Given the description of an element on the screen output the (x, y) to click on. 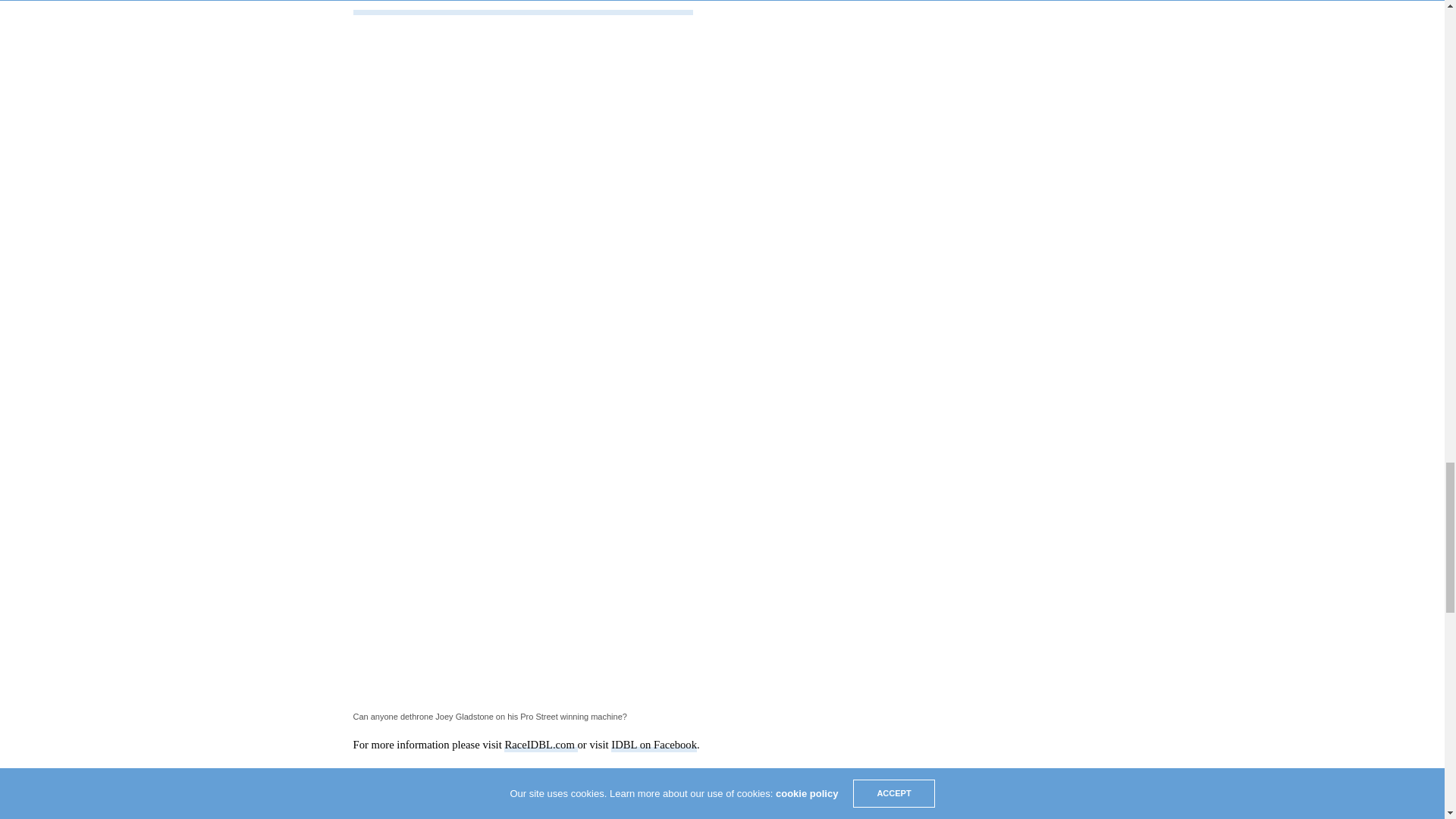
IDBL on Facebook (654, 745)
RaceIDBL.com (539, 745)
Share on Facebook (399, 810)
